Given the description of an element on the screen output the (x, y) to click on. 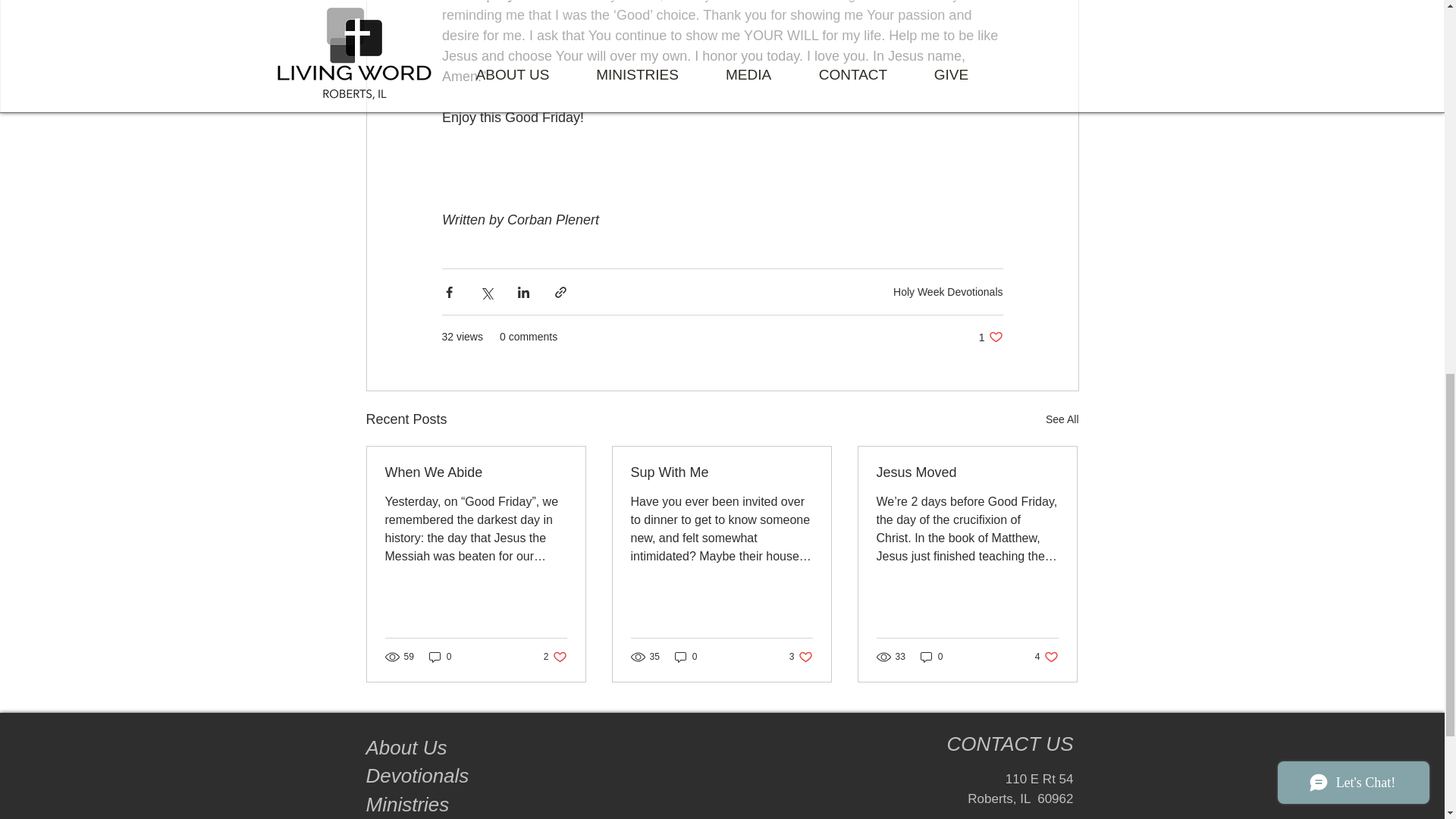
Jesus Moved (967, 472)
0 (1046, 656)
0 (800, 656)
When We Abide (440, 656)
About Us (685, 656)
Sup With Me (476, 472)
Devotionals  (405, 747)
0 (721, 472)
See All (419, 775)
Holy Week Devotionals (555, 656)
Ministries (990, 336)
